Given the description of an element on the screen output the (x, y) to click on. 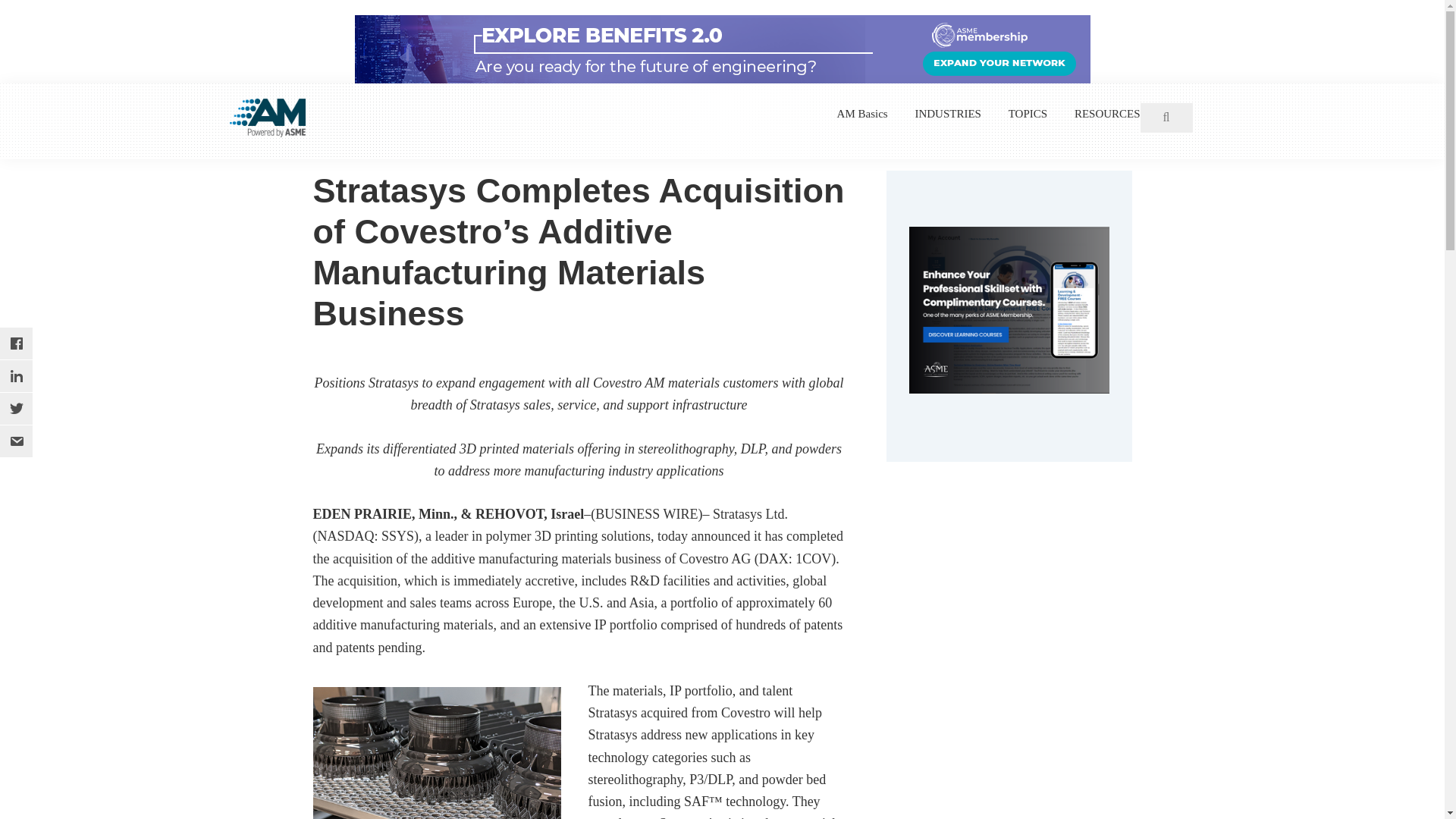
INDUSTRIES (947, 113)
RESOURCES (1107, 113)
AM Basics (862, 113)
TOPICS (1027, 113)
